Given the description of an element on the screen output the (x, y) to click on. 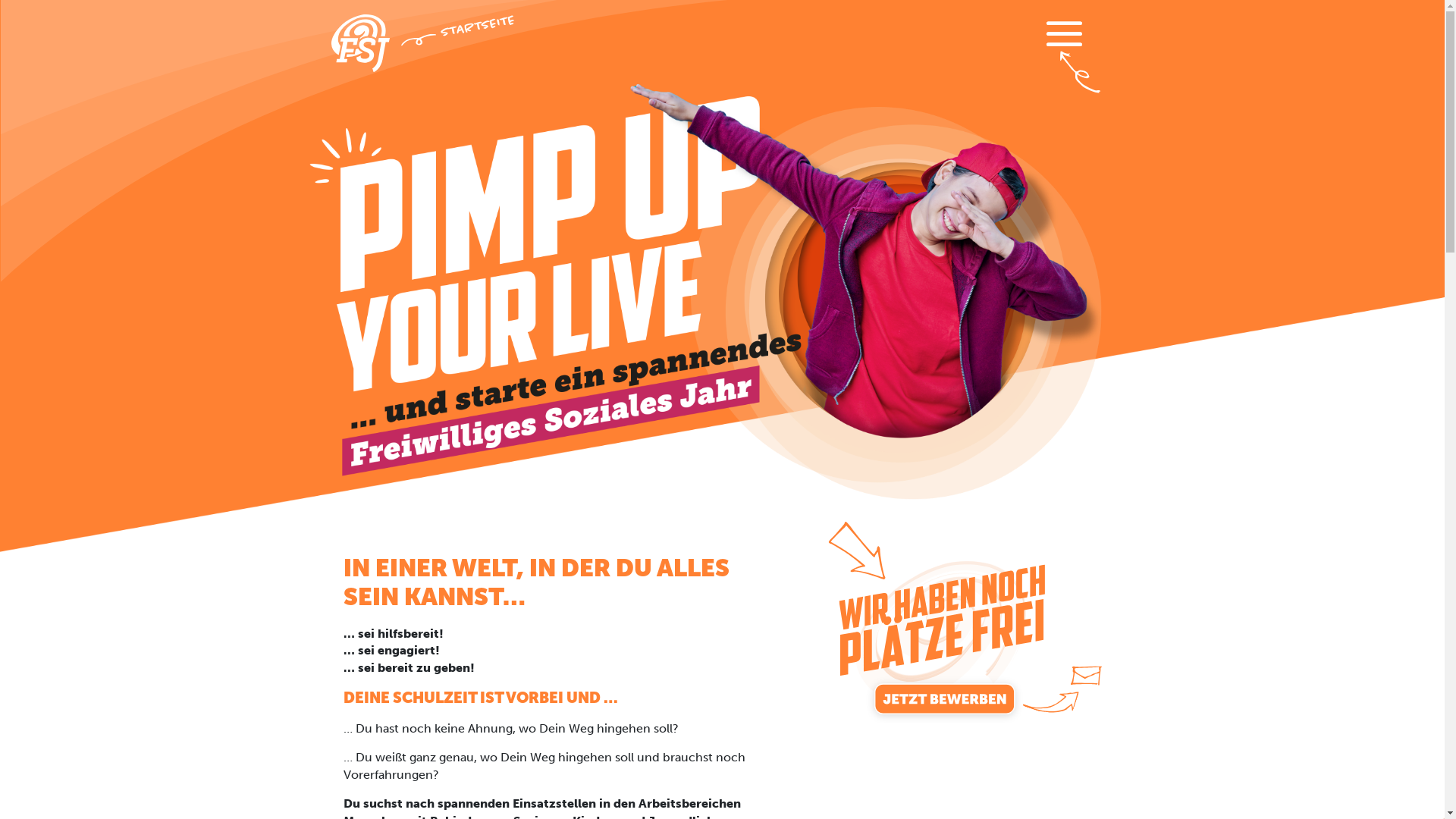
FSJ-Home-header-02 Element type: hover (702, 280)
stoerer-plaetzefrei-home Element type: hover (962, 621)
